Given the description of an element on the screen output the (x, y) to click on. 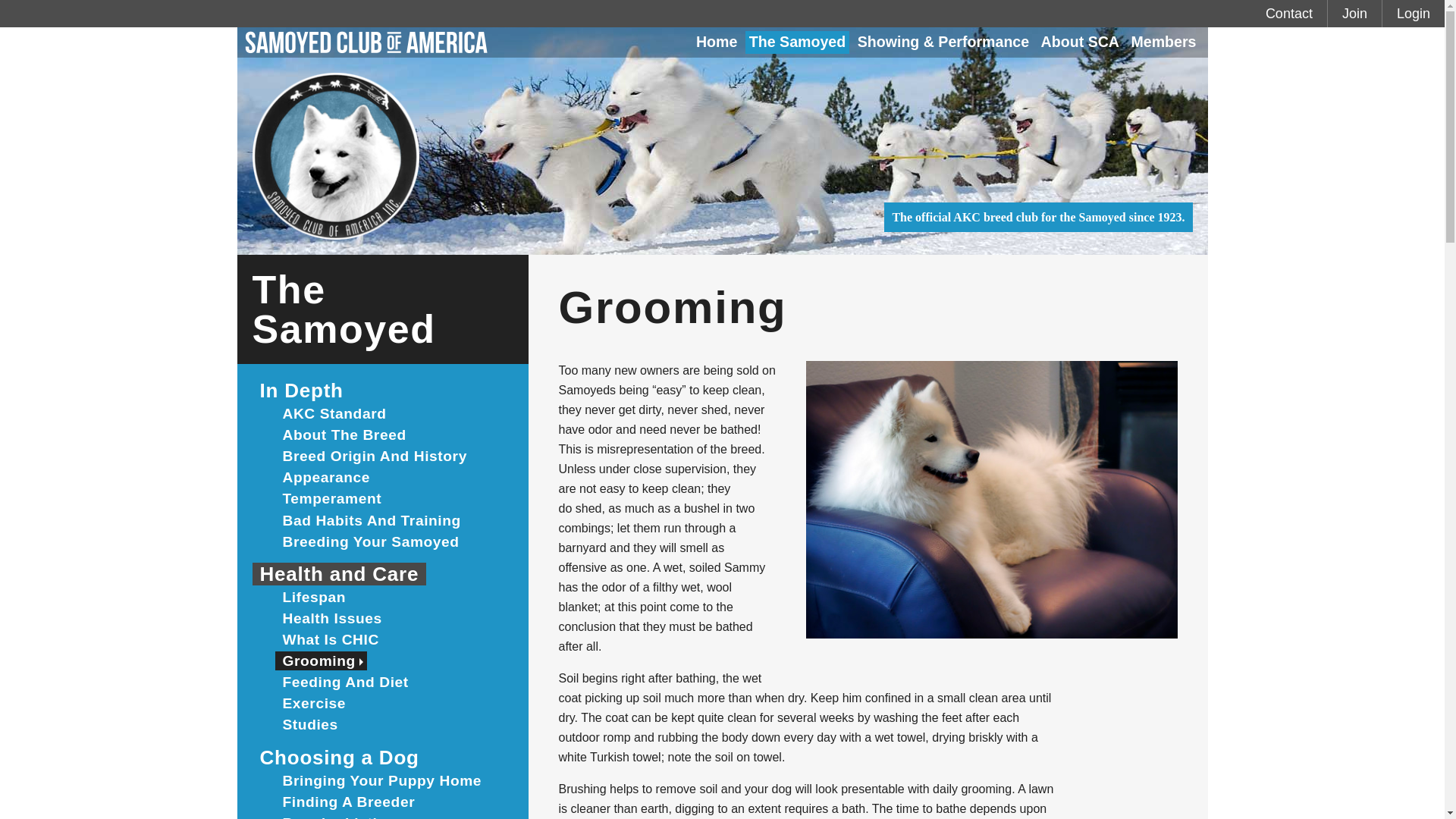
Members (1162, 42)
Health and Care (338, 573)
Grooming (320, 660)
Exercise (314, 702)
Breeder Listings (343, 816)
Contact (1288, 13)
AKC Standard (334, 413)
Lifespan (314, 597)
Temperament (331, 497)
What Is CHIC (330, 639)
Bringing Your Puppy Home (382, 780)
Health Issues (331, 618)
Finding A Breeder (348, 801)
Appearance (326, 476)
Join (1354, 13)
